Given the description of an element on the screen output the (x, y) to click on. 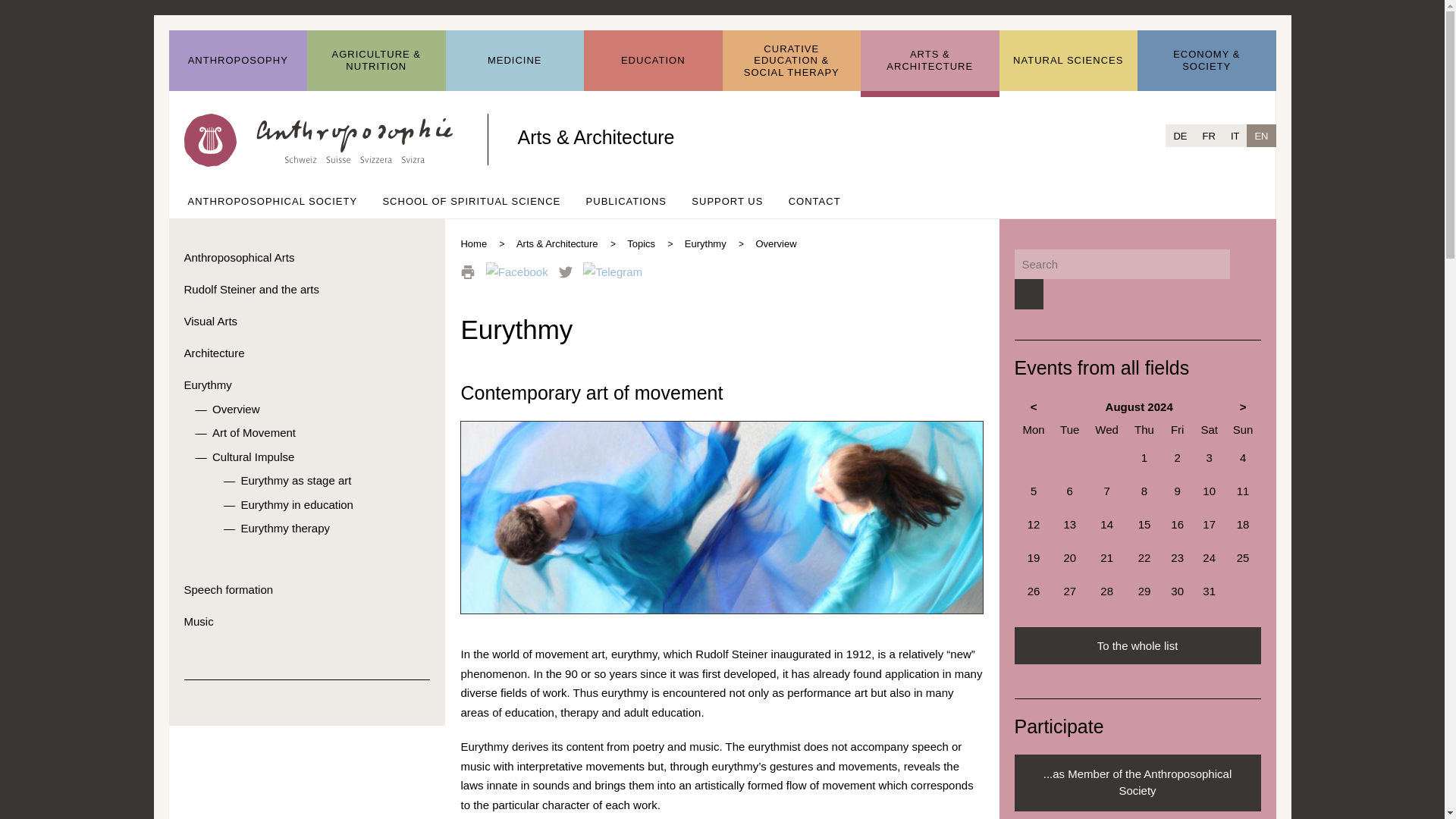
ANTHROPOSOPHY (237, 60)
MEDICINE (515, 60)
EDUCATION (652, 60)
Search (1028, 294)
